Given the description of an element on the screen output the (x, y) to click on. 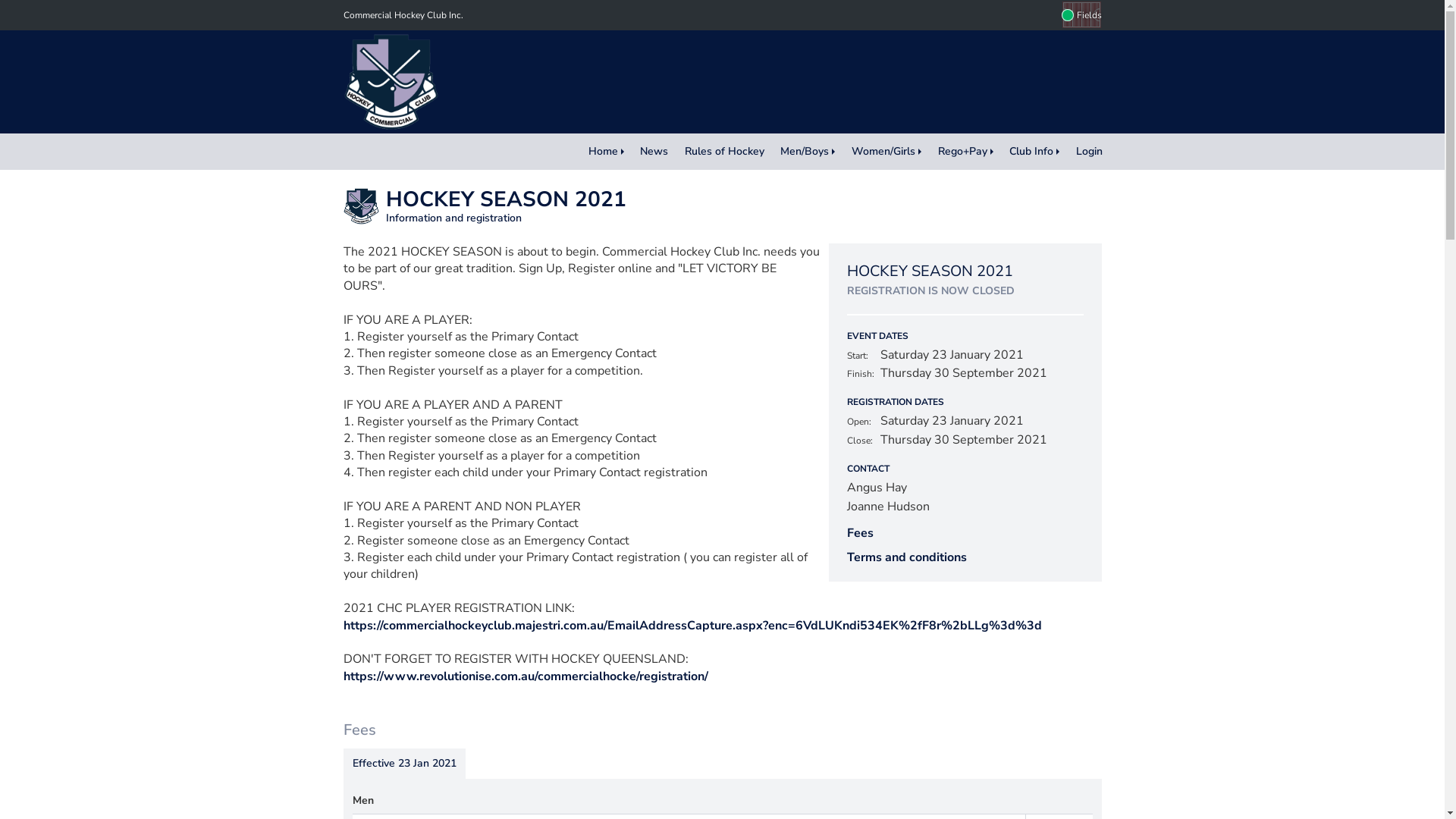
Fees Element type: text (859, 532)
Women/Girls Element type: text (886, 151)
News Element type: text (653, 151)
Login Element type: text (1088, 151)
Fields Element type: text (1081, 15)
Men/Boys Element type: text (808, 151)
Commercial Hockey Club Inc. Element type: text (402, 15)
Club Info Element type: text (1034, 151)
Home Element type: text (606, 151)
Effective 23 Jan 2021 Element type: text (403, 763)
Terms and conditions Element type: text (906, 557)
Rego+Pay Element type: text (965, 151)
Rules of Hockey Element type: text (724, 151)
